Given the description of an element on the screen output the (x, y) to click on. 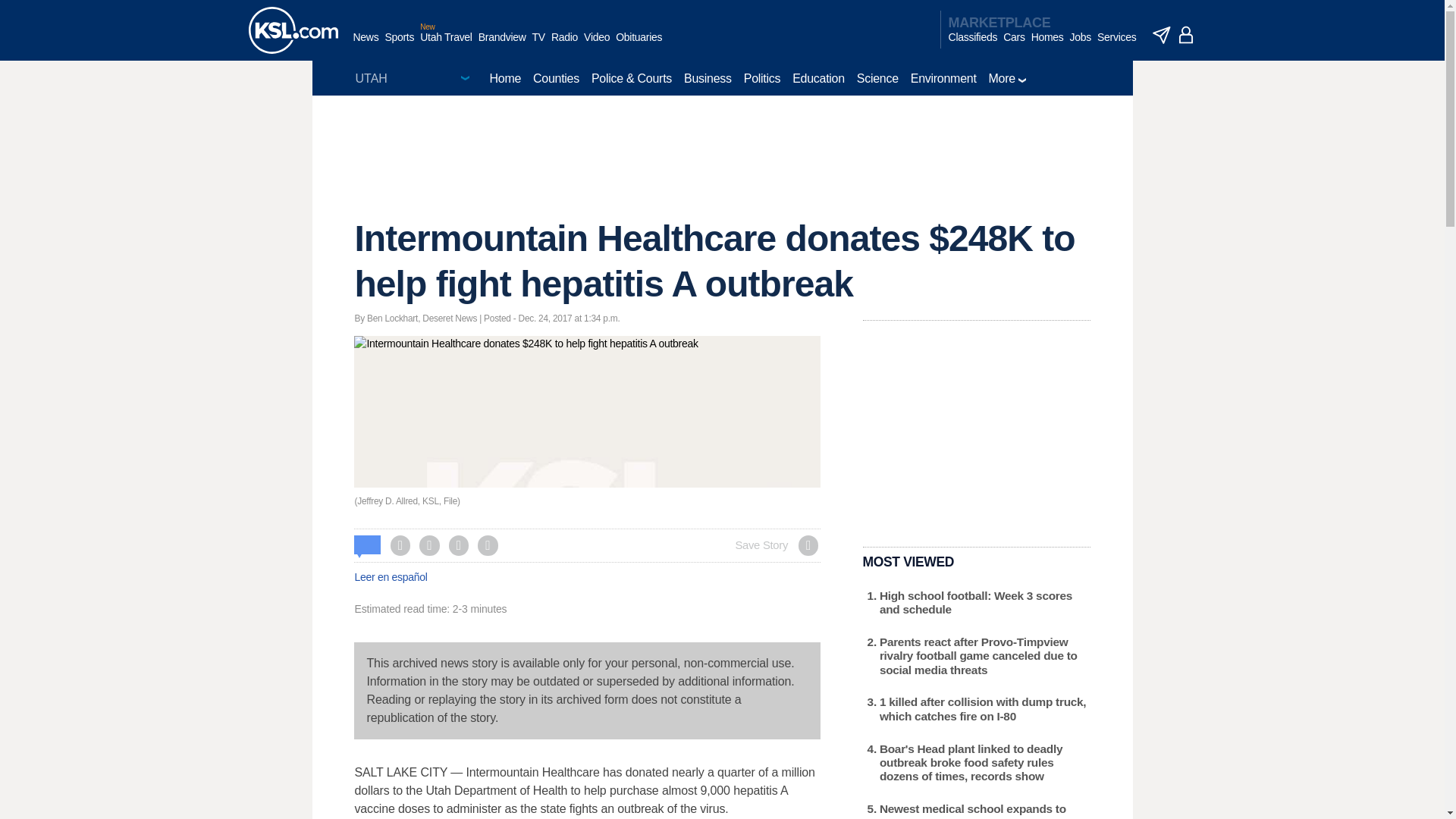
Sports (398, 45)
Utah Travel (445, 45)
KSL homepage (292, 29)
account - logged out (1185, 34)
KSL homepage (292, 30)
Brandview (502, 45)
